Given the description of an element on the screen output the (x, y) to click on. 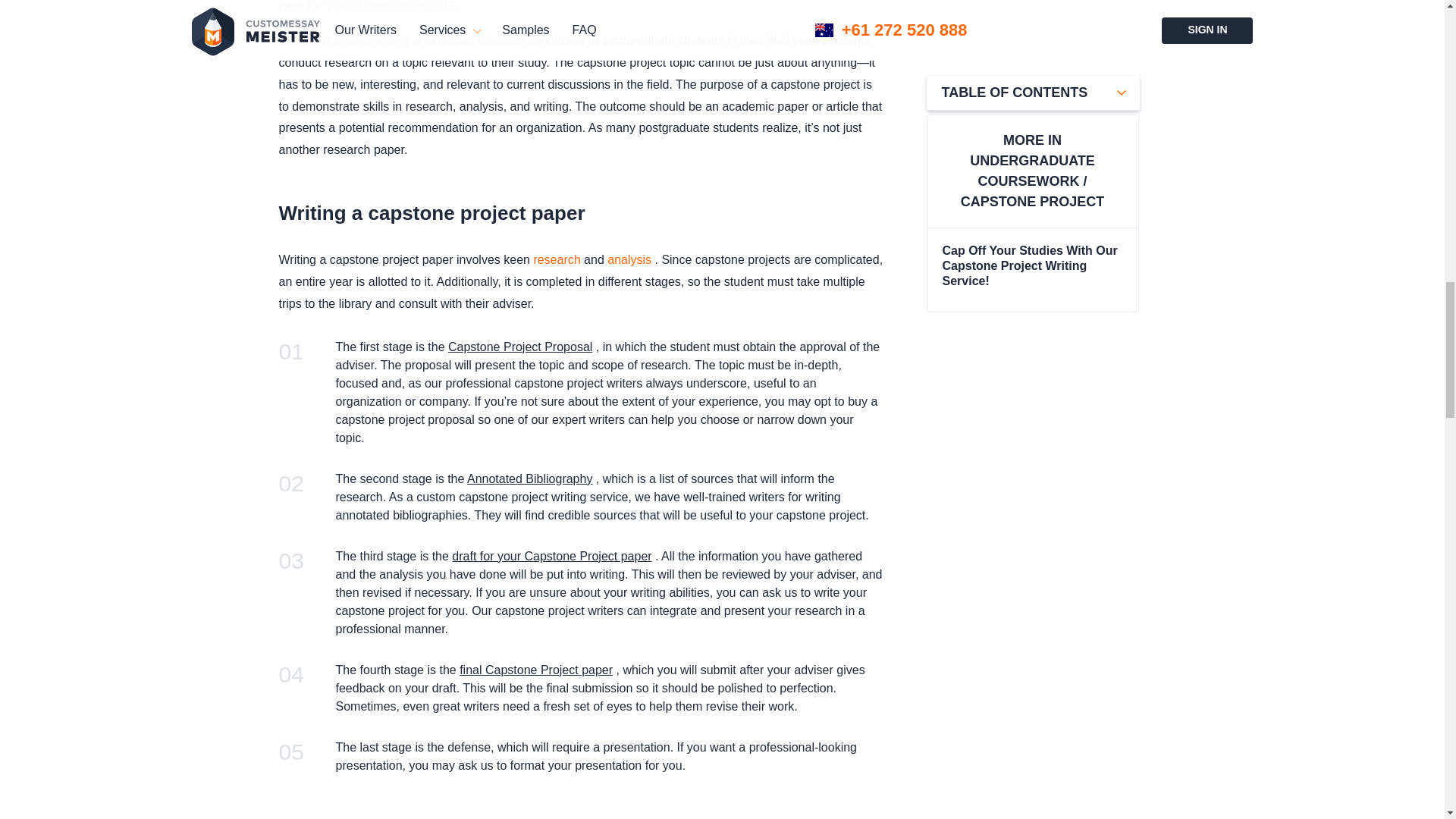
analysis (628, 259)
research (555, 259)
Capstone project writing (344, 40)
